Given the description of an element on the screen output the (x, y) to click on. 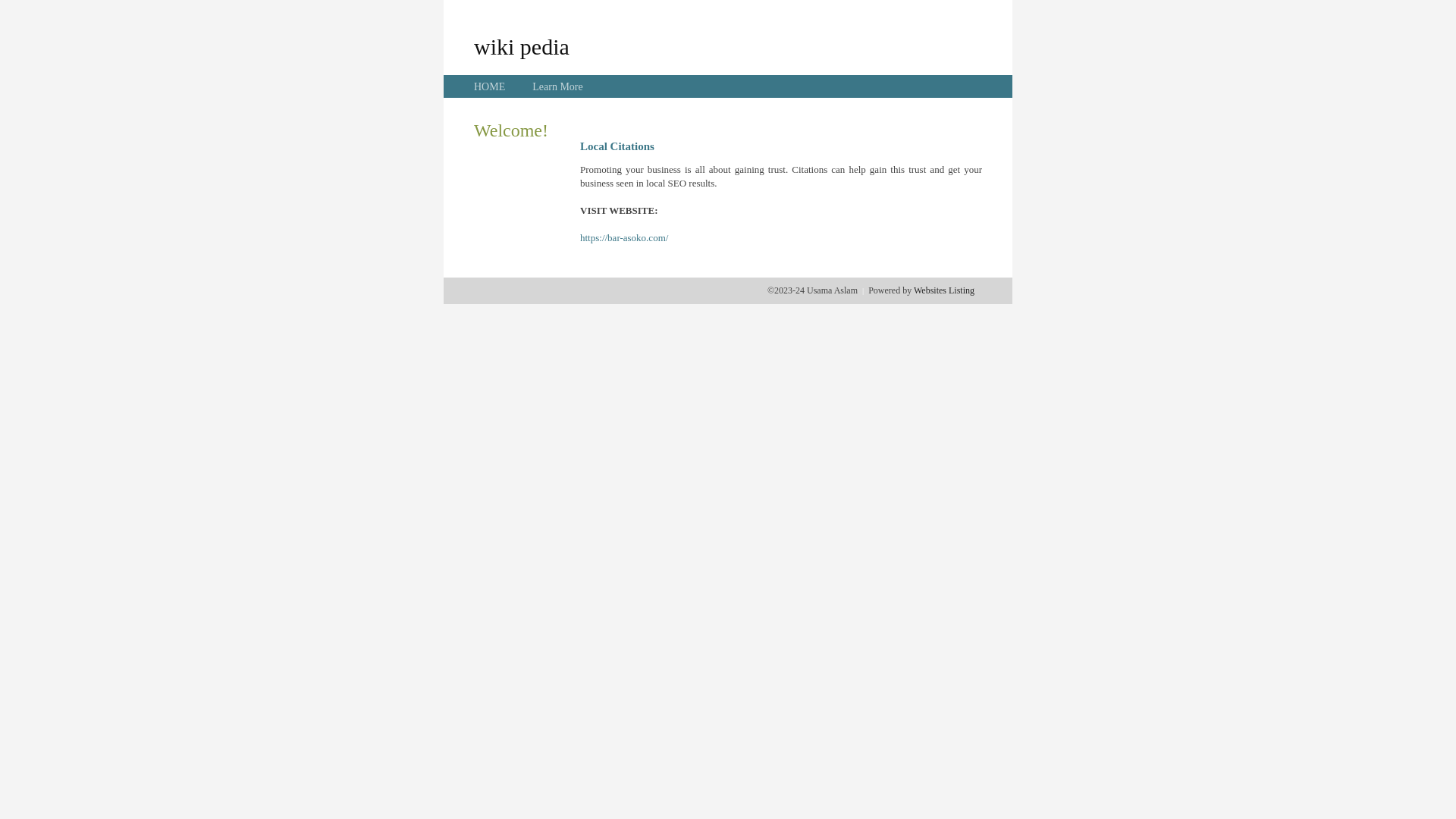
Websites Listing Element type: text (943, 290)
Learn More Element type: text (557, 86)
https://bar-asoko.com/ Element type: text (624, 237)
HOME Element type: text (489, 86)
wiki pedia Element type: text (521, 46)
